Given the description of an element on the screen output the (x, y) to click on. 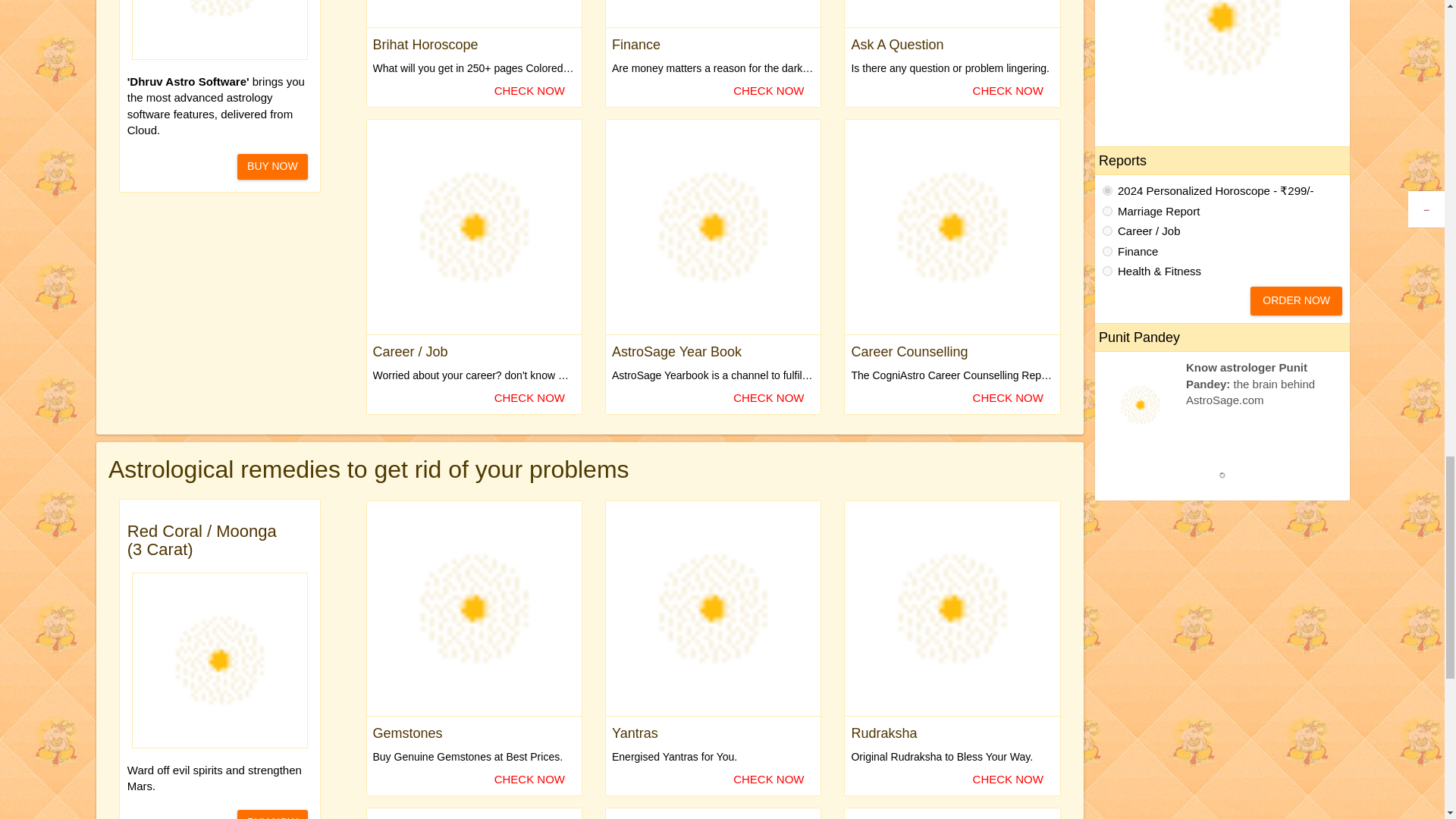
health-fitness (1107, 271)
marriage-and-love-analysis-new2 (1107, 211)
personalized-horoscope-2020 (1107, 190)
career-job-new2 (1107, 230)
finance-new2 (1107, 251)
